Given the description of an element on the screen output the (x, y) to click on. 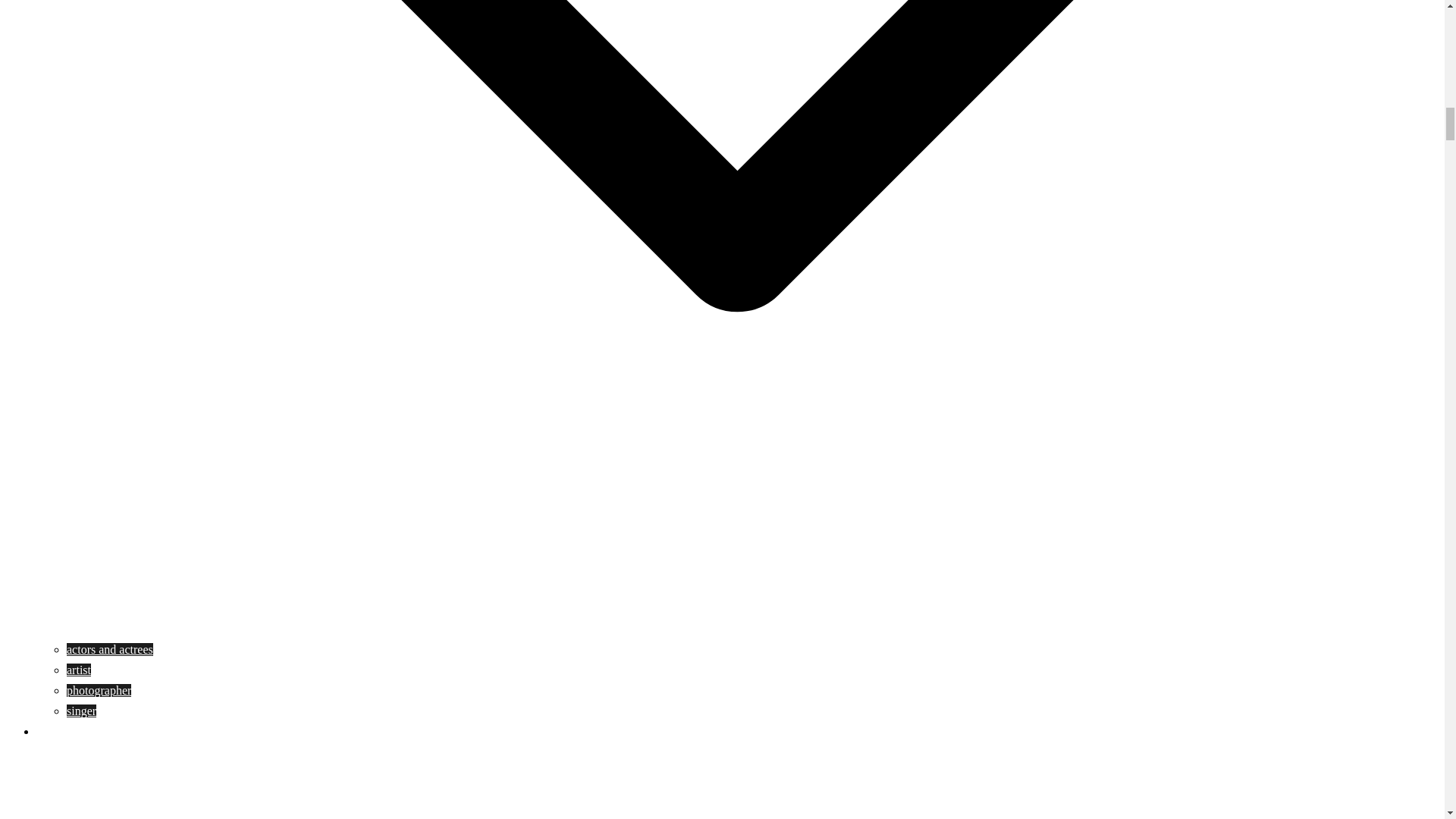
singer (81, 710)
Entertainment (70, 730)
actors and actrees (109, 649)
artist (78, 669)
photographer (98, 689)
